Given the description of an element on the screen output the (x, y) to click on. 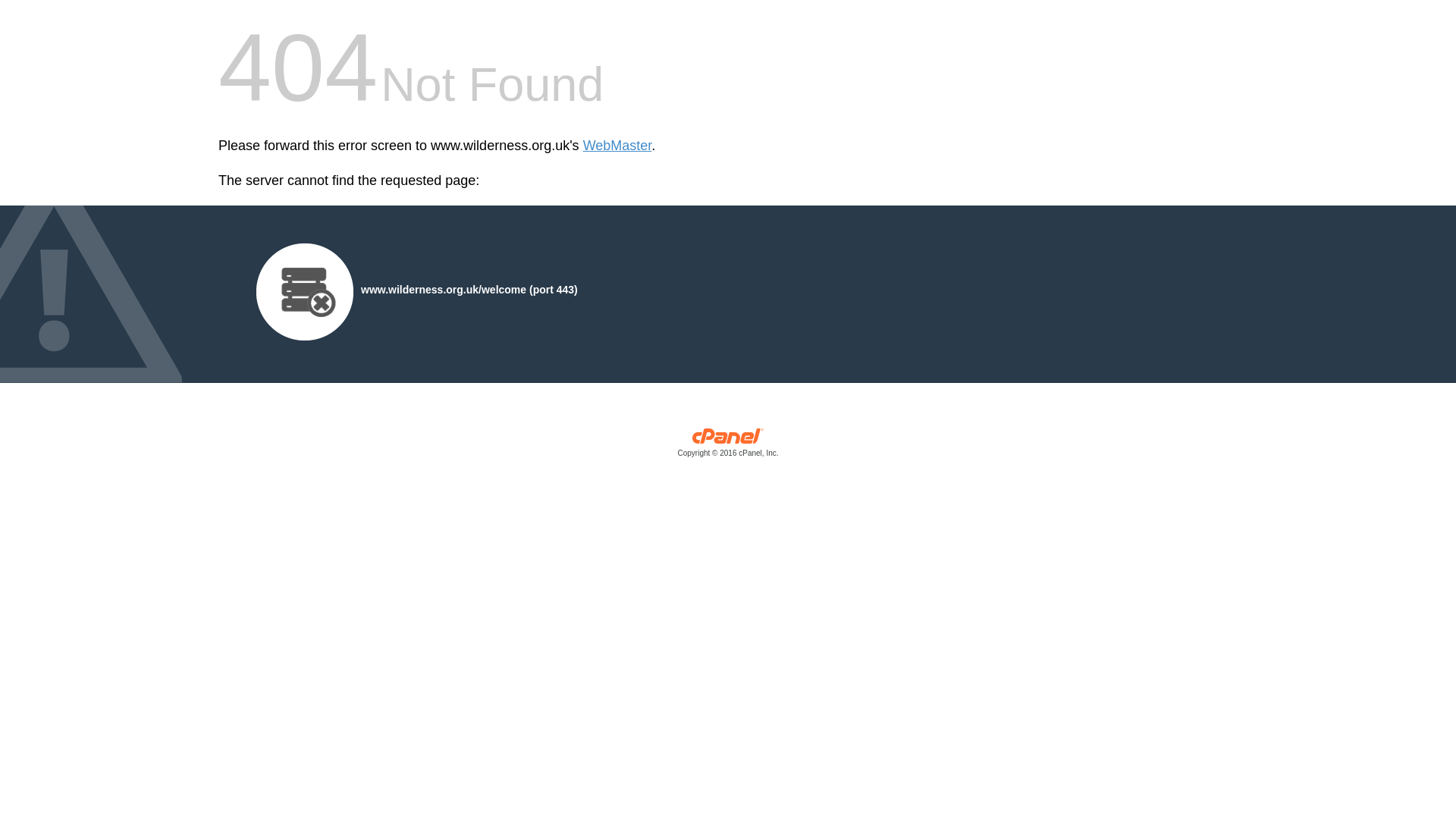
WebMaster (617, 145)
cPanel, Inc. (727, 446)
